Given the description of an element on the screen output the (x, y) to click on. 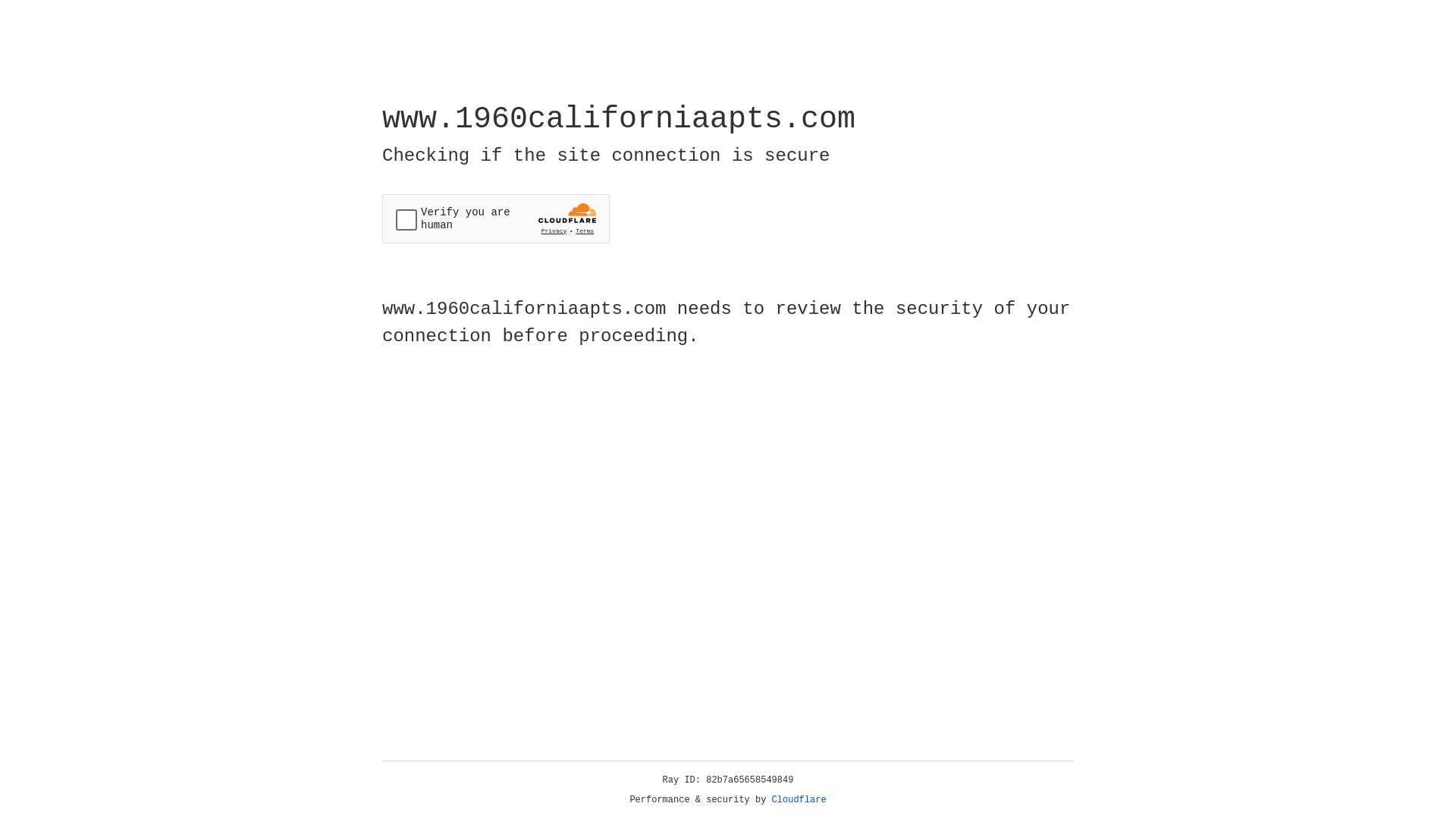
Cloudflare Element type: text (798, 799)
Widget containing a Cloudflare security challenge Element type: hover (495, 218)
